Given the description of an element on the screen output the (x, y) to click on. 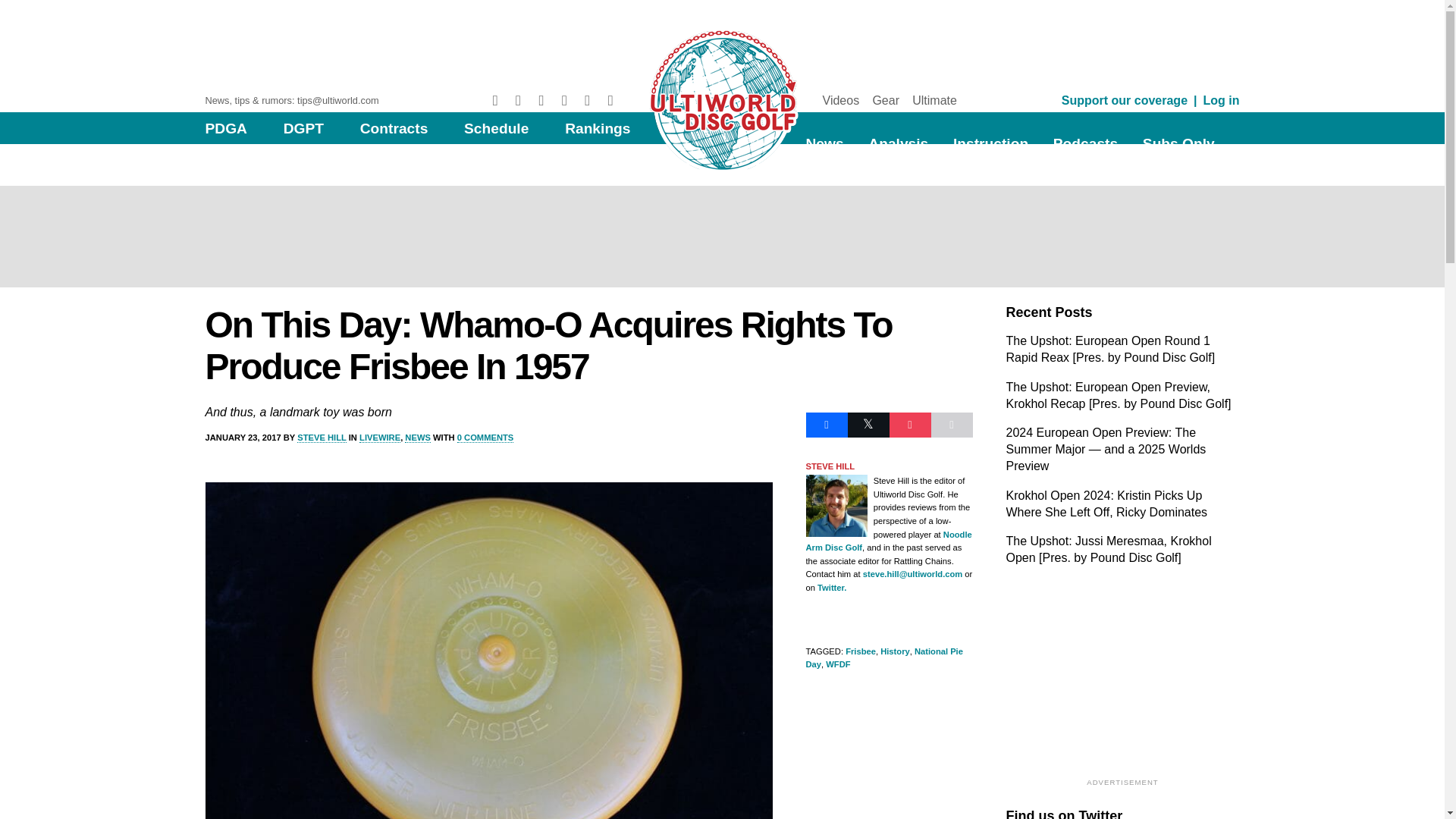
Ultimate (934, 100)
View all posts by Steve Hill (321, 438)
Analysis (897, 143)
DGPT (303, 128)
Videos (840, 100)
Contracts (393, 128)
Schedule (496, 128)
Instruction (990, 143)
Log in (1222, 100)
Rankings (597, 128)
Podcasts (1085, 143)
Gear (885, 100)
PDGA (225, 128)
Support our coverage (1124, 100)
Subs Only (1178, 143)
